Given the description of an element on the screen output the (x, y) to click on. 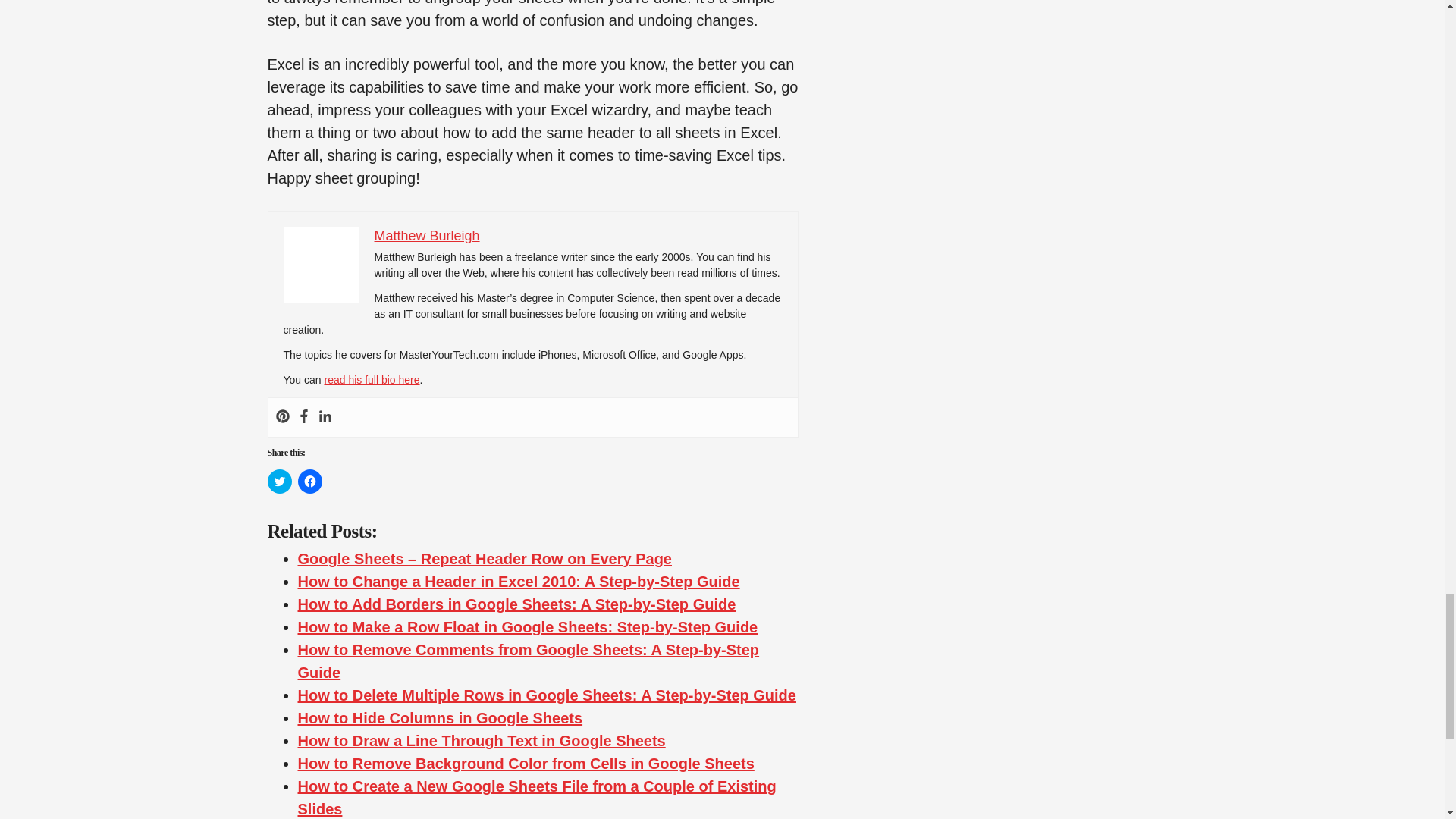
How to Remove Background Color from Cells in Google Sheets (525, 763)
How to Hide Columns in Google Sheets (439, 718)
Matthew Burleigh (427, 235)
How to Make a Row Float in Google Sheets: Step-by-Step Guide (527, 627)
How to Add Borders in Google Sheets: A Step-by-Step Guide (516, 604)
How to Draw a Line Through Text in Google Sheets (481, 740)
read his full bio here (371, 379)
How to Change a Header in Excel 2010: A Step-by-Step Guide (518, 581)
